Given the description of an element on the screen output the (x, y) to click on. 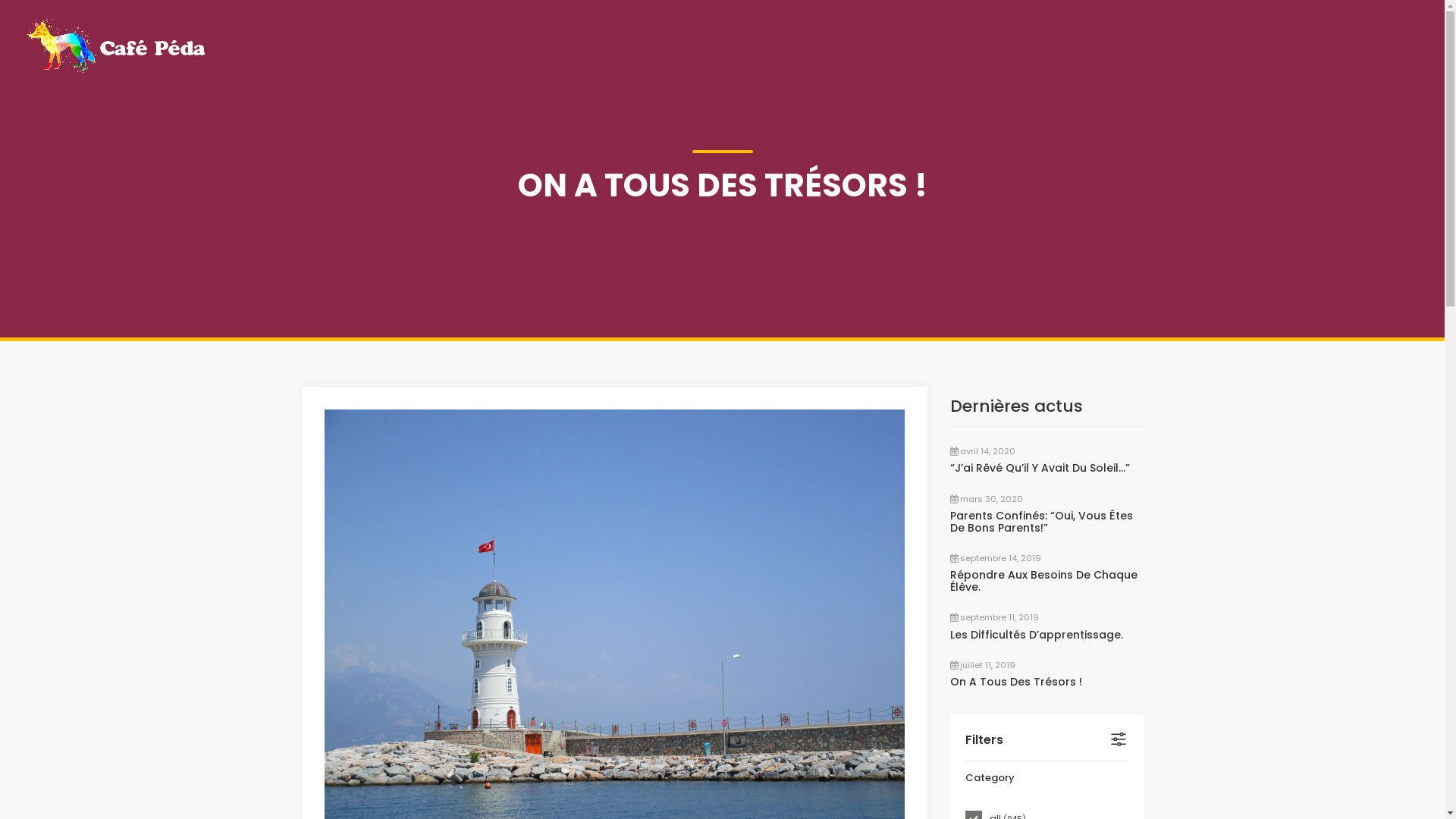
Filters Element type: text (1045, 739)
